Given the description of an element on the screen output the (x, y) to click on. 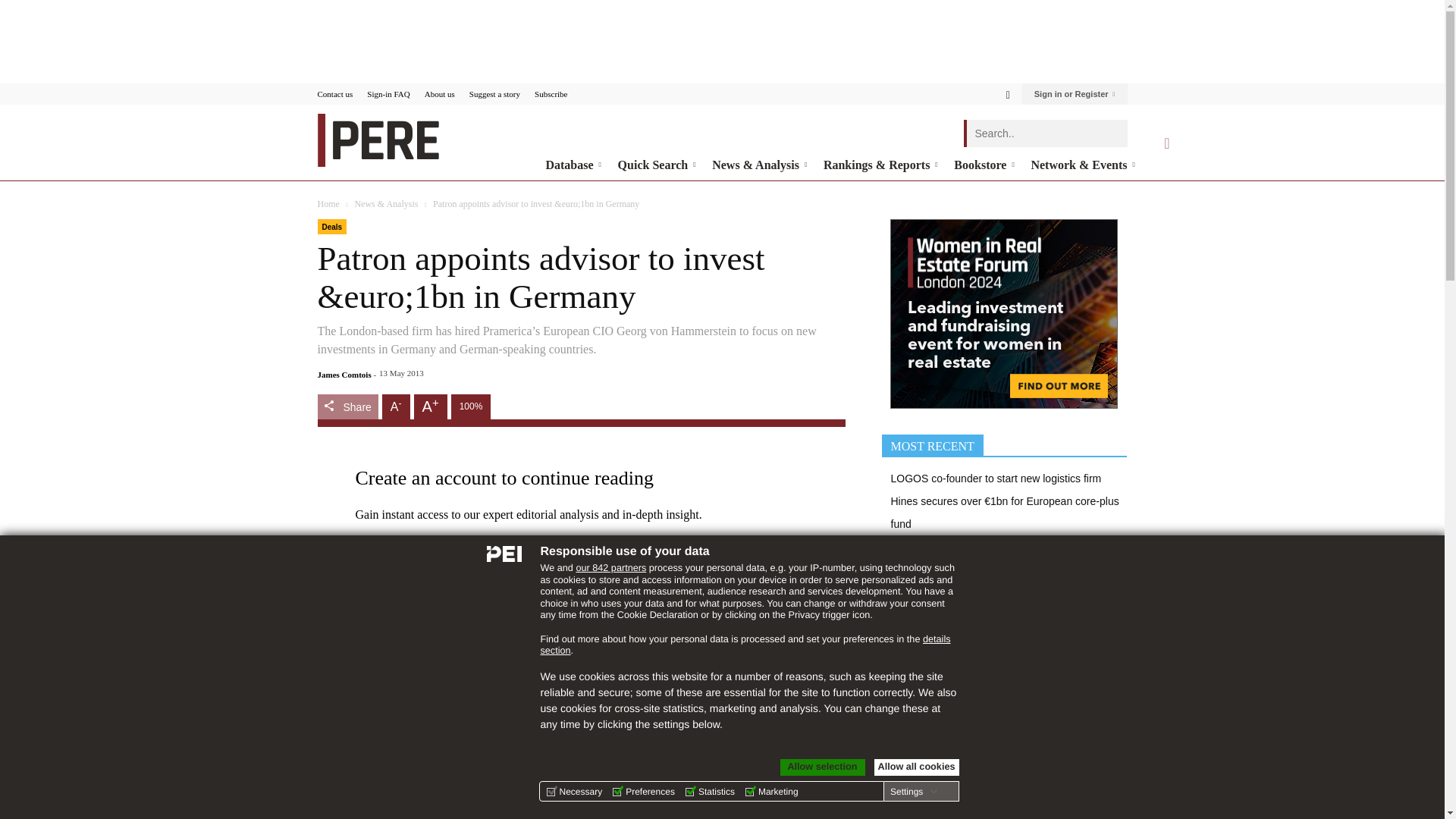
Allow selection (821, 767)
our 842 partners (610, 567)
Settings (913, 791)
details section (745, 644)
Allow all cookies (915, 767)
